Given the description of an element on the screen output the (x, y) to click on. 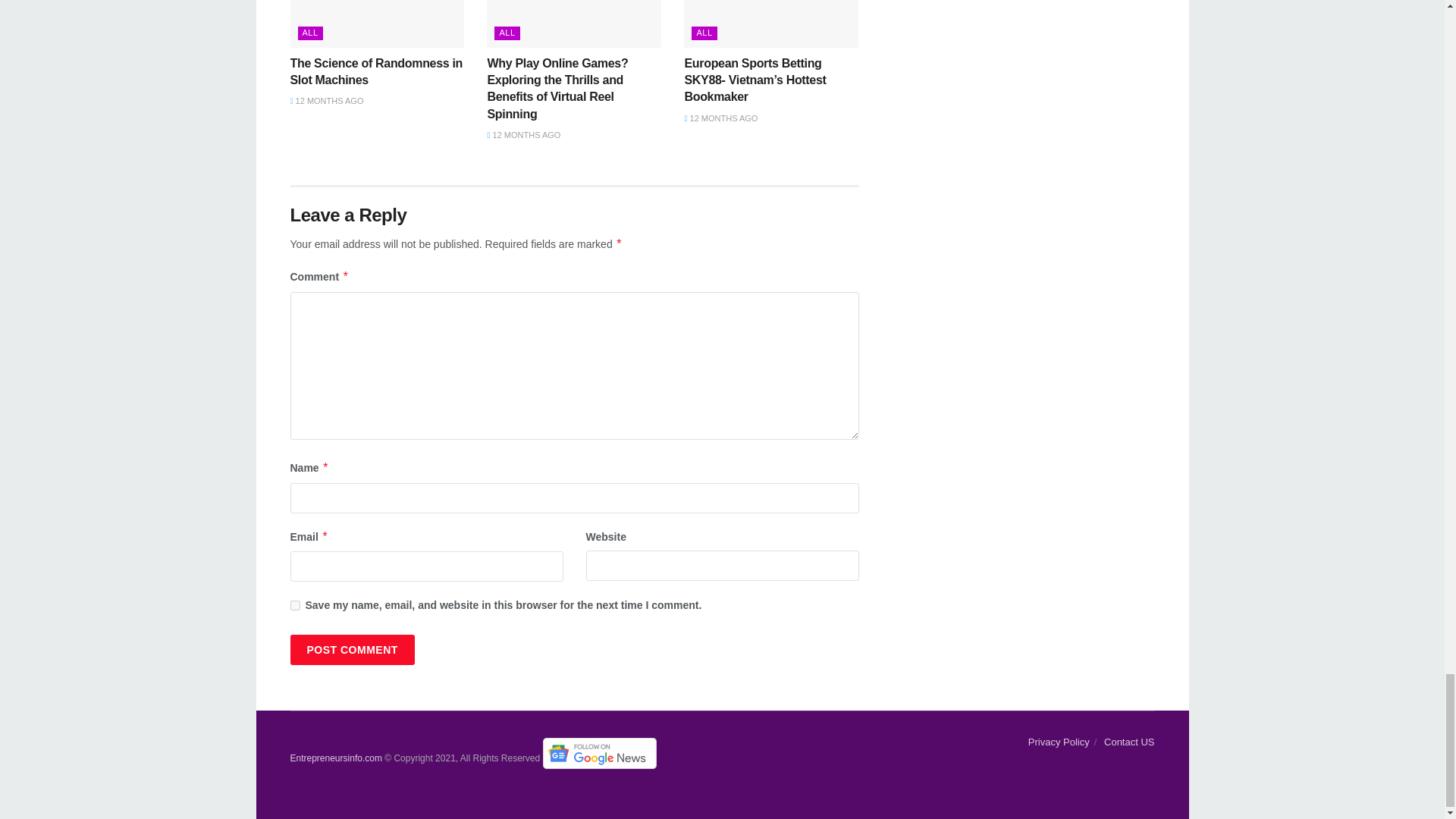
yes (294, 605)
Post Comment (351, 649)
